Given the description of an element on the screen output the (x, y) to click on. 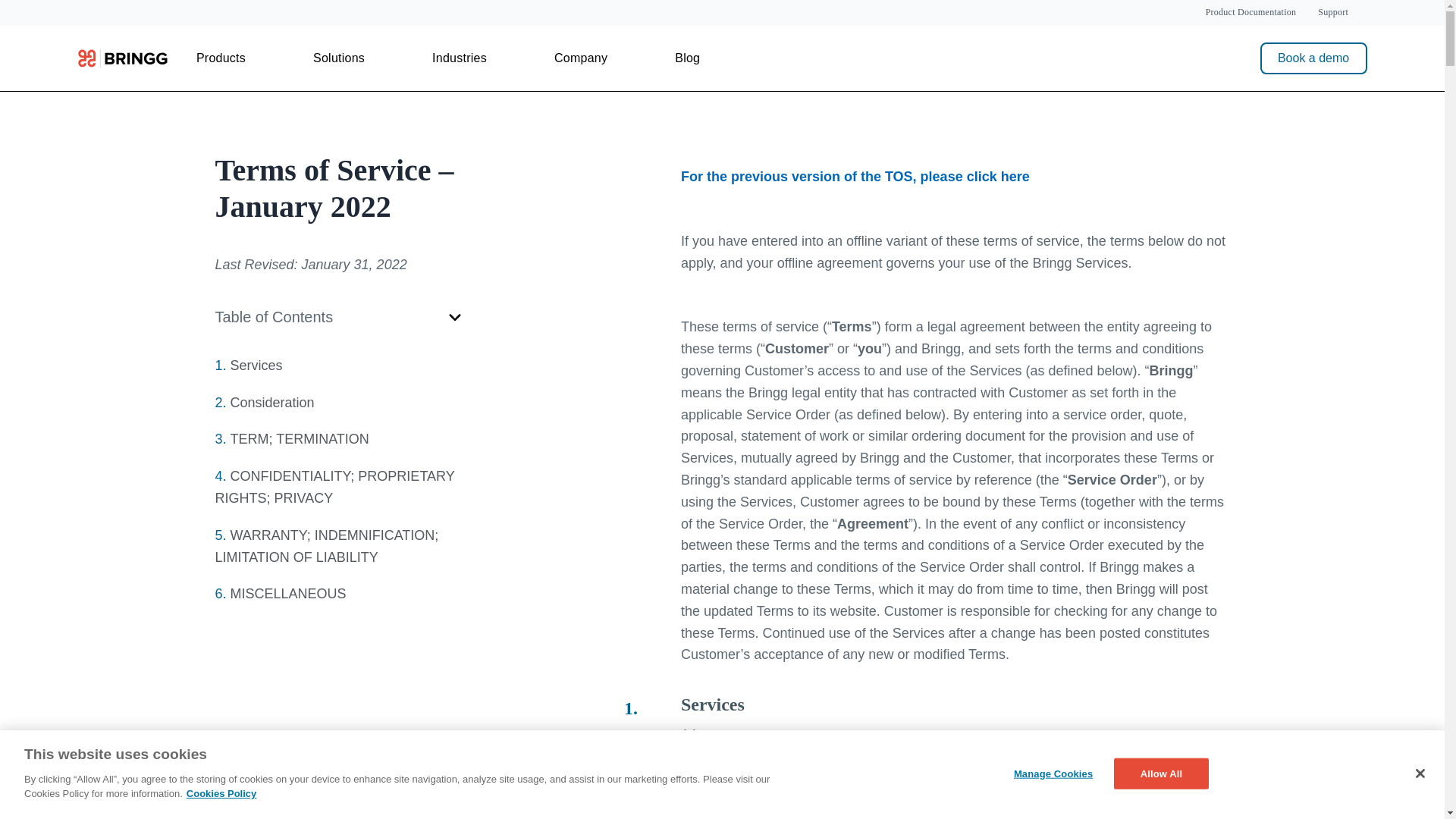
For the previous version of the TOS, please click here (855, 176)
MISCELLANEOUS (288, 593)
Industries (459, 58)
TERM; TERMINATION (299, 438)
Company (580, 58)
WARRANTY; INDEMNIFICATION; LIMITATION OF LIABILITY (327, 546)
Consideration (272, 402)
Support (1332, 12)
CONFIDENTIALITY; PROPRIETARY RIGHTS; PRIVACY (334, 487)
Services (256, 365)
